Given the description of an element on the screen output the (x, y) to click on. 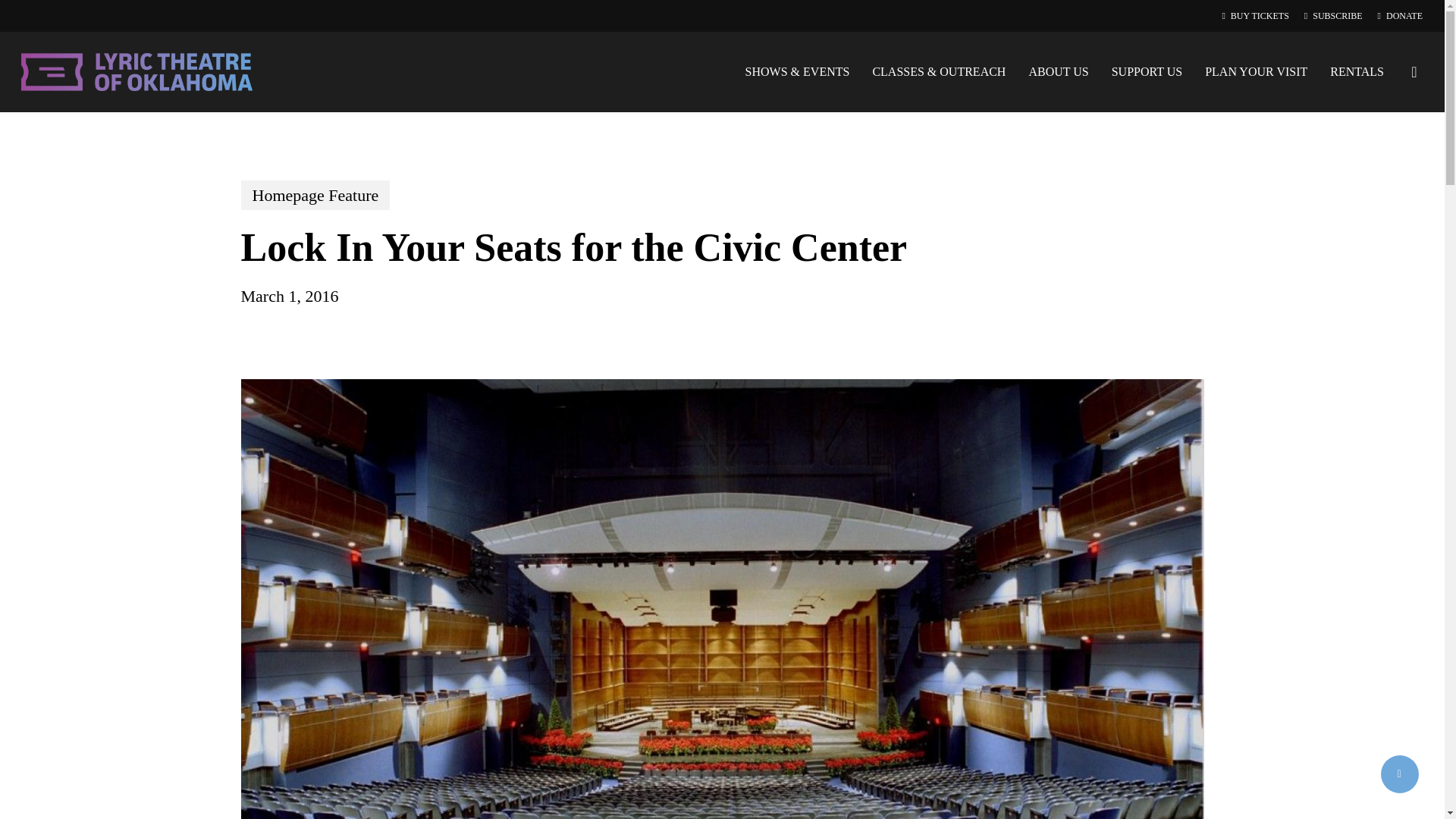
BUY TICKETS (1254, 15)
SUPPORT US (1147, 71)
ABOUT US (1057, 71)
SUBSCRIBE (1333, 15)
DONATE (1399, 15)
PLAN YOUR VISIT (1256, 71)
